Given the description of an element on the screen output the (x, y) to click on. 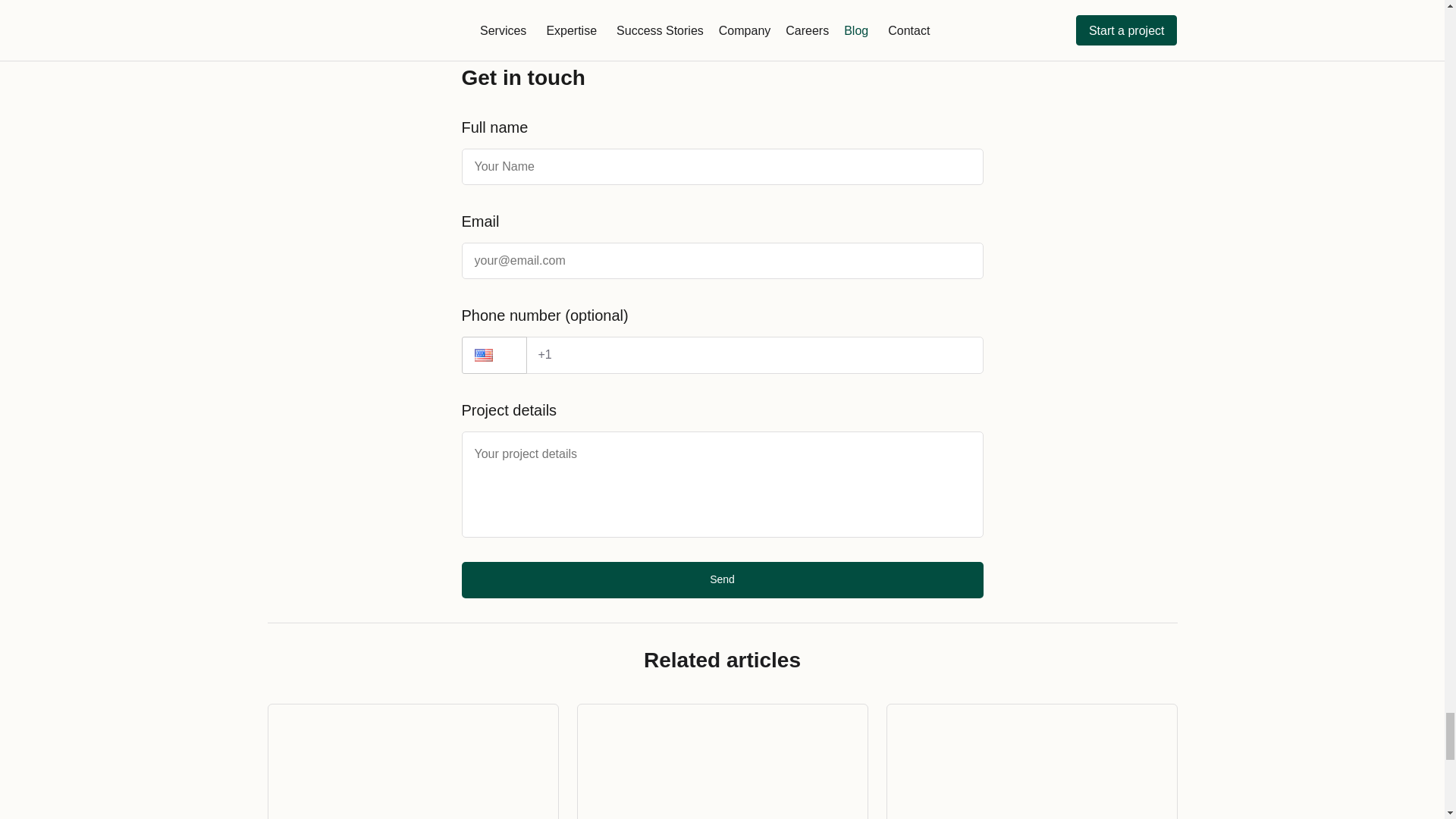
Send (721, 579)
